Given the description of an element on the screen output the (x, y) to click on. 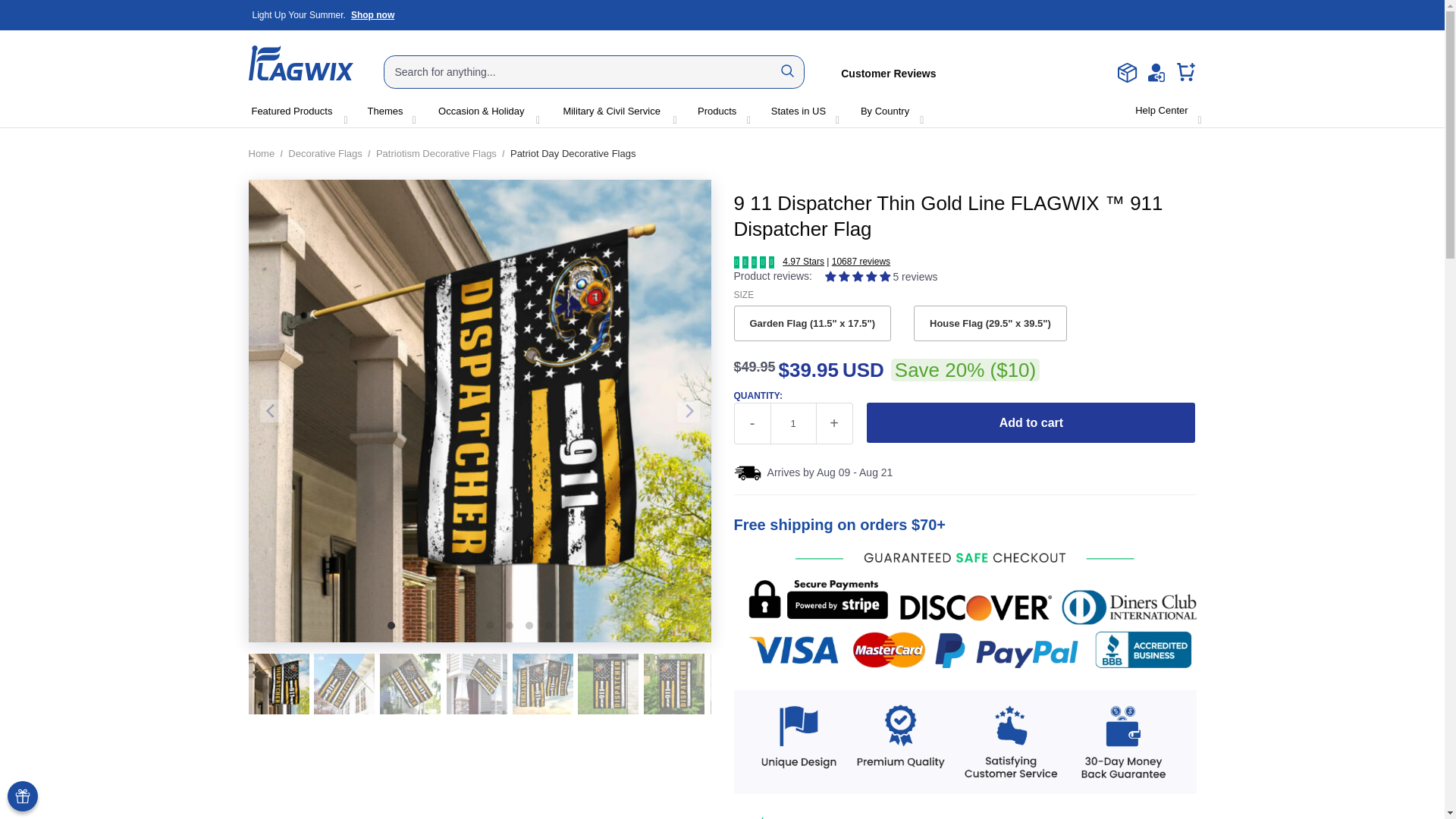
Qty (793, 423)
Check out our 3-day delivery collection. (322, 14)
Featured Products (292, 111)
Customer Reviews (888, 71)
Themes (322, 14)
1 (384, 111)
Flagwix (793, 423)
Customer reviews powered by Trustpilot (300, 61)
